Given the description of an element on the screen output the (x, y) to click on. 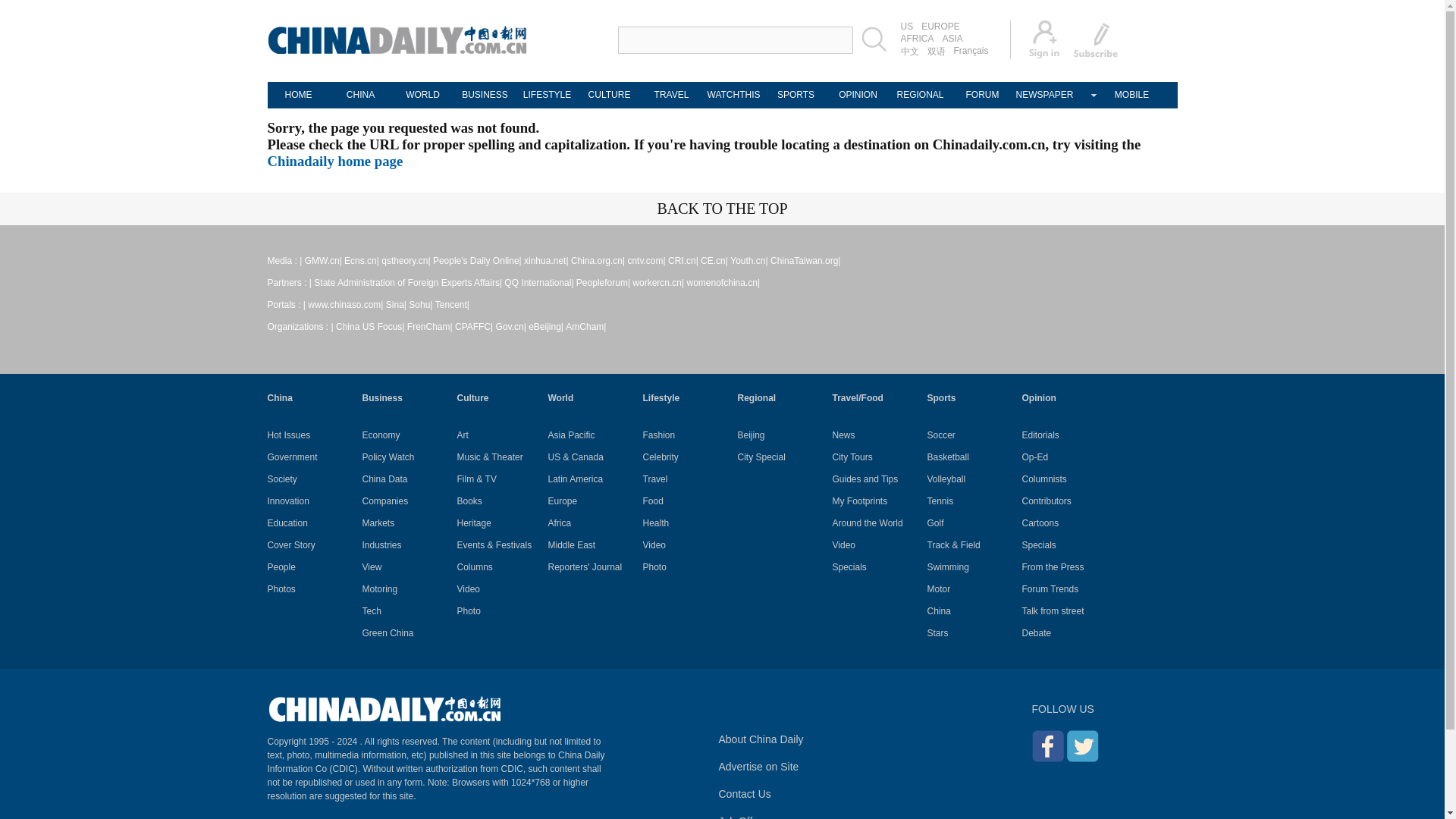
REGIONAL (919, 94)
AFRICA (917, 38)
CHINA (360, 94)
MOBILE (1131, 94)
BACK TO THE TOP (721, 208)
HOME (297, 94)
TRAVEL (670, 94)
OPINION (857, 94)
US (906, 26)
WORLD (421, 94)
